Given the description of an element on the screen output the (x, y) to click on. 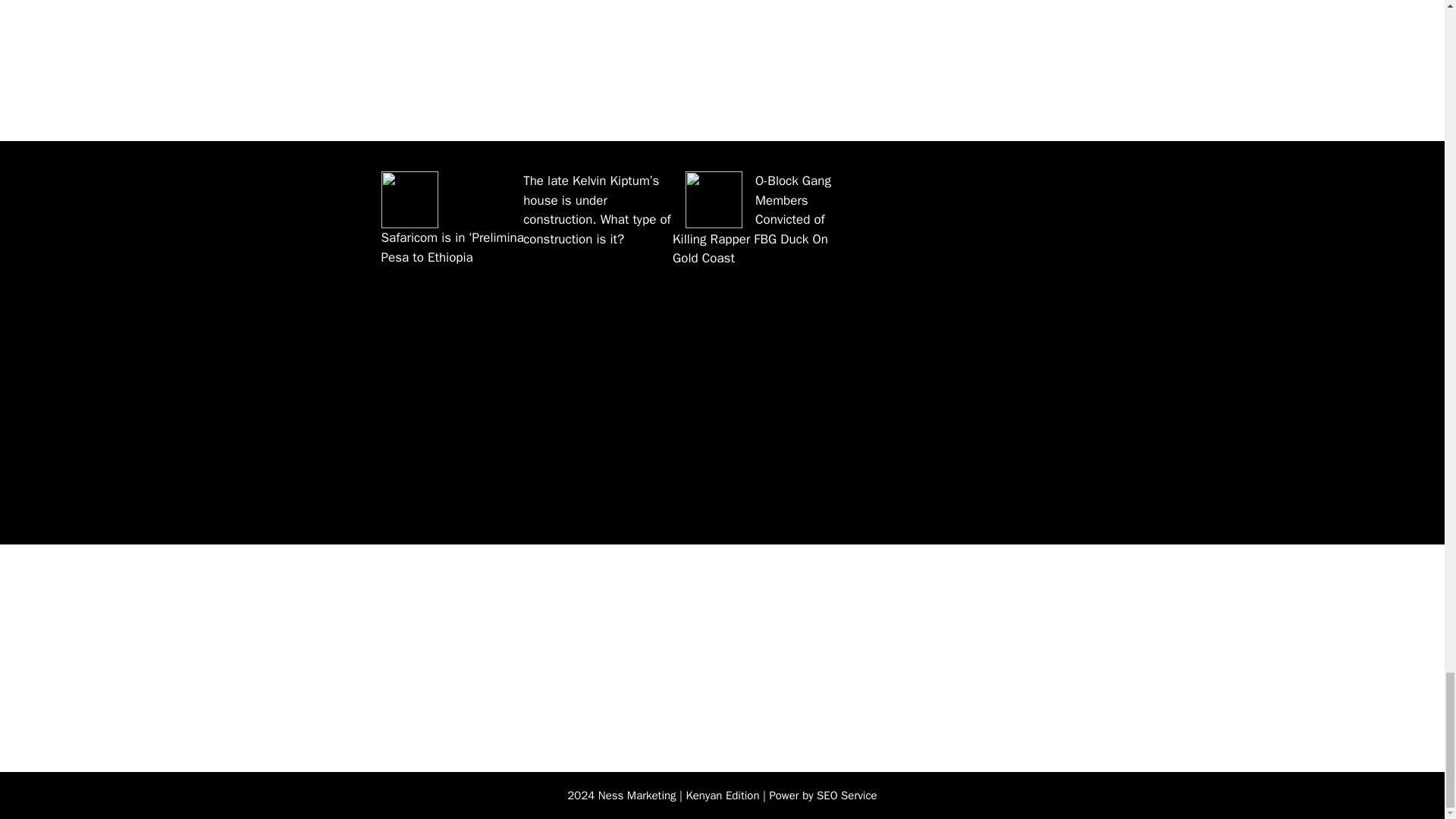
Ness Marketing (637, 795)
SEO Service (846, 795)
Kenyan Edition (721, 795)
